Given the description of an element on the screen output the (x, y) to click on. 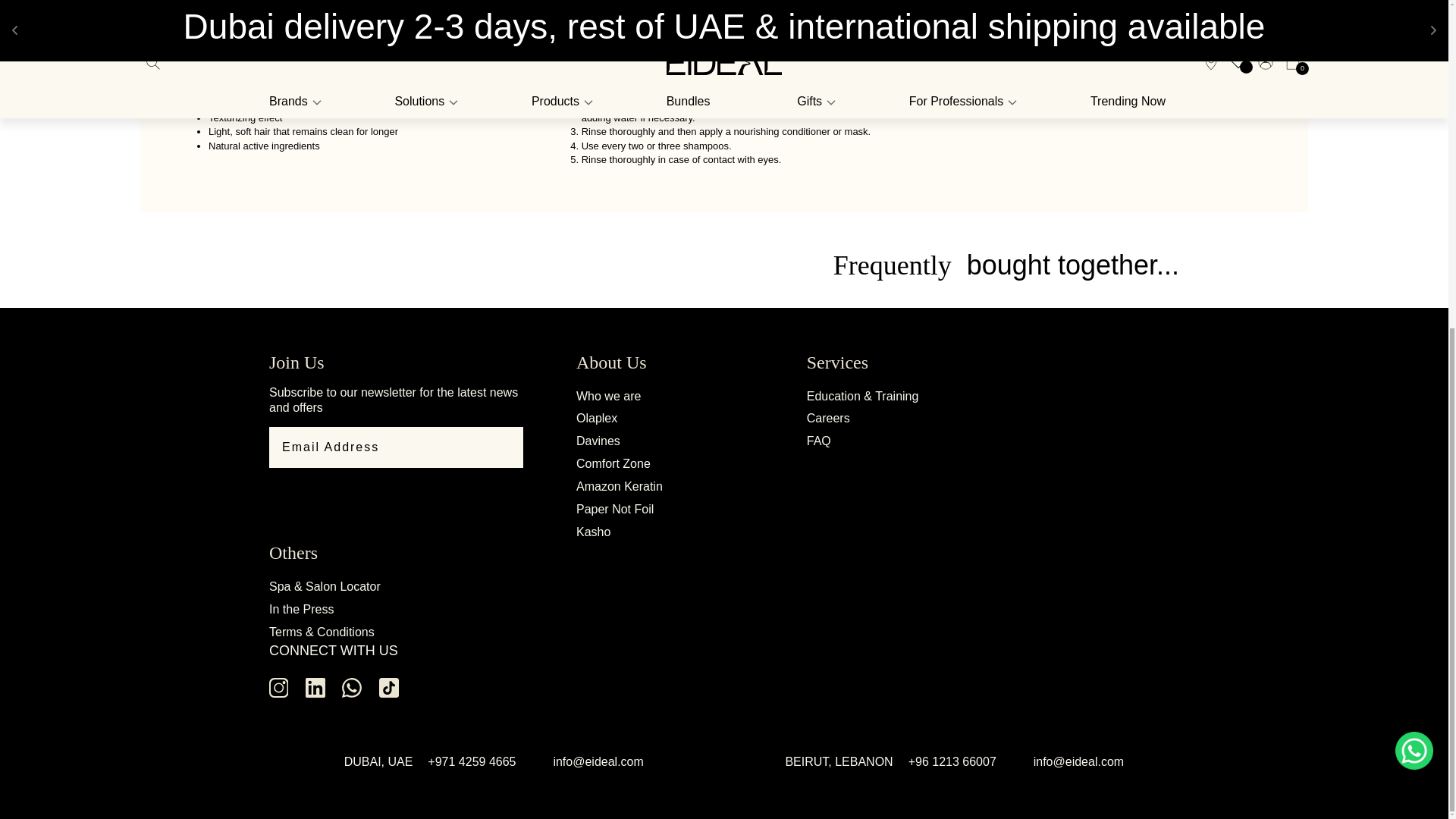
Whatsapp us now (1413, 207)
